Given the description of an element on the screen output the (x, y) to click on. 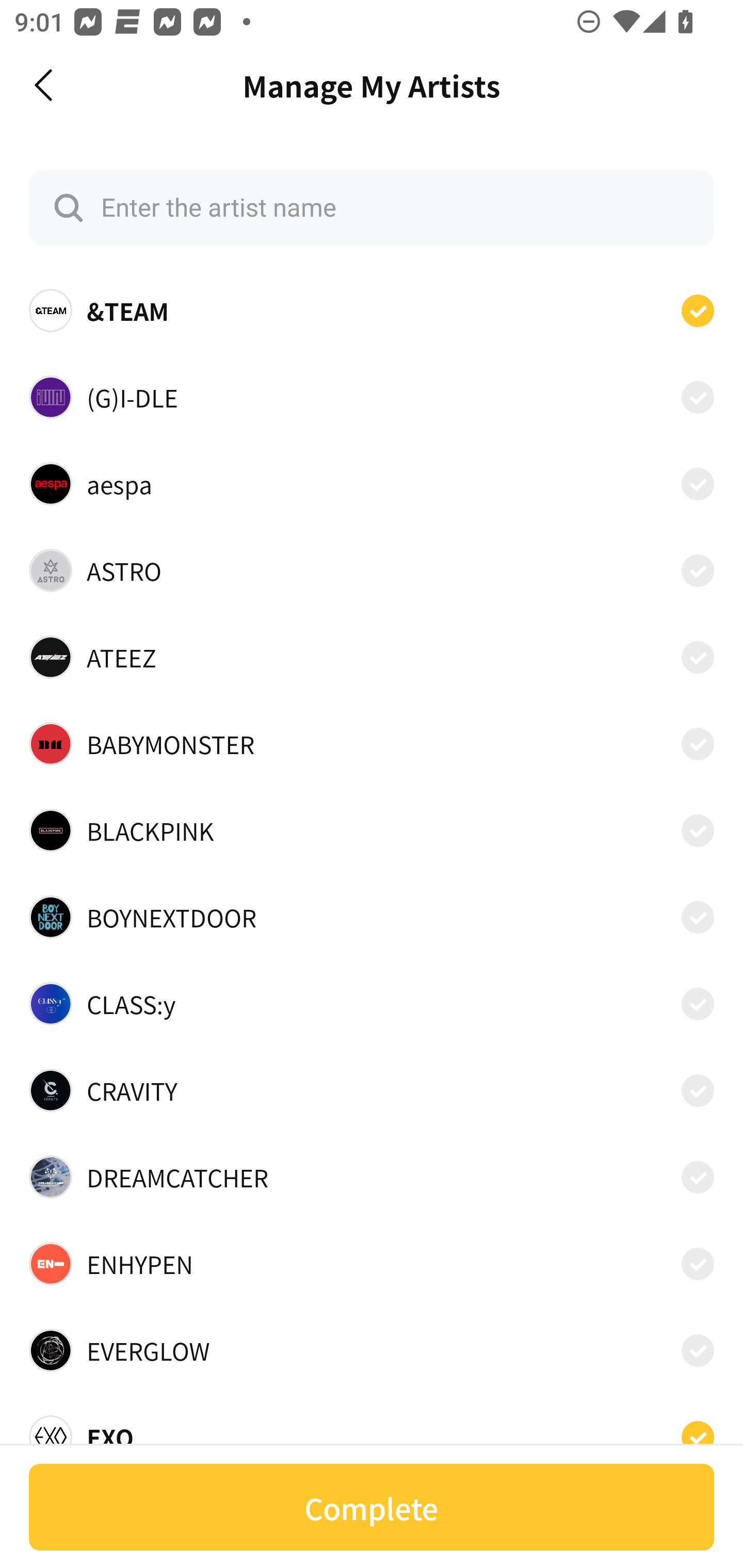
Enter the artist name (371, 207)
&TEAM (371, 310)
(G)I-DLE (371, 396)
aespa (371, 483)
ASTRO (371, 570)
ATEEZ (371, 656)
BABYMONSTER (371, 743)
BLACKPINK (371, 830)
BOYNEXTDOOR (371, 917)
CLASS:y (371, 1003)
CRAVITY (371, 1090)
DREAMCATCHER (371, 1176)
ENHYPEN (371, 1263)
EVERGLOW (371, 1350)
EXO (371, 1430)
Complete (371, 1507)
